Given the description of an element on the screen output the (x, y) to click on. 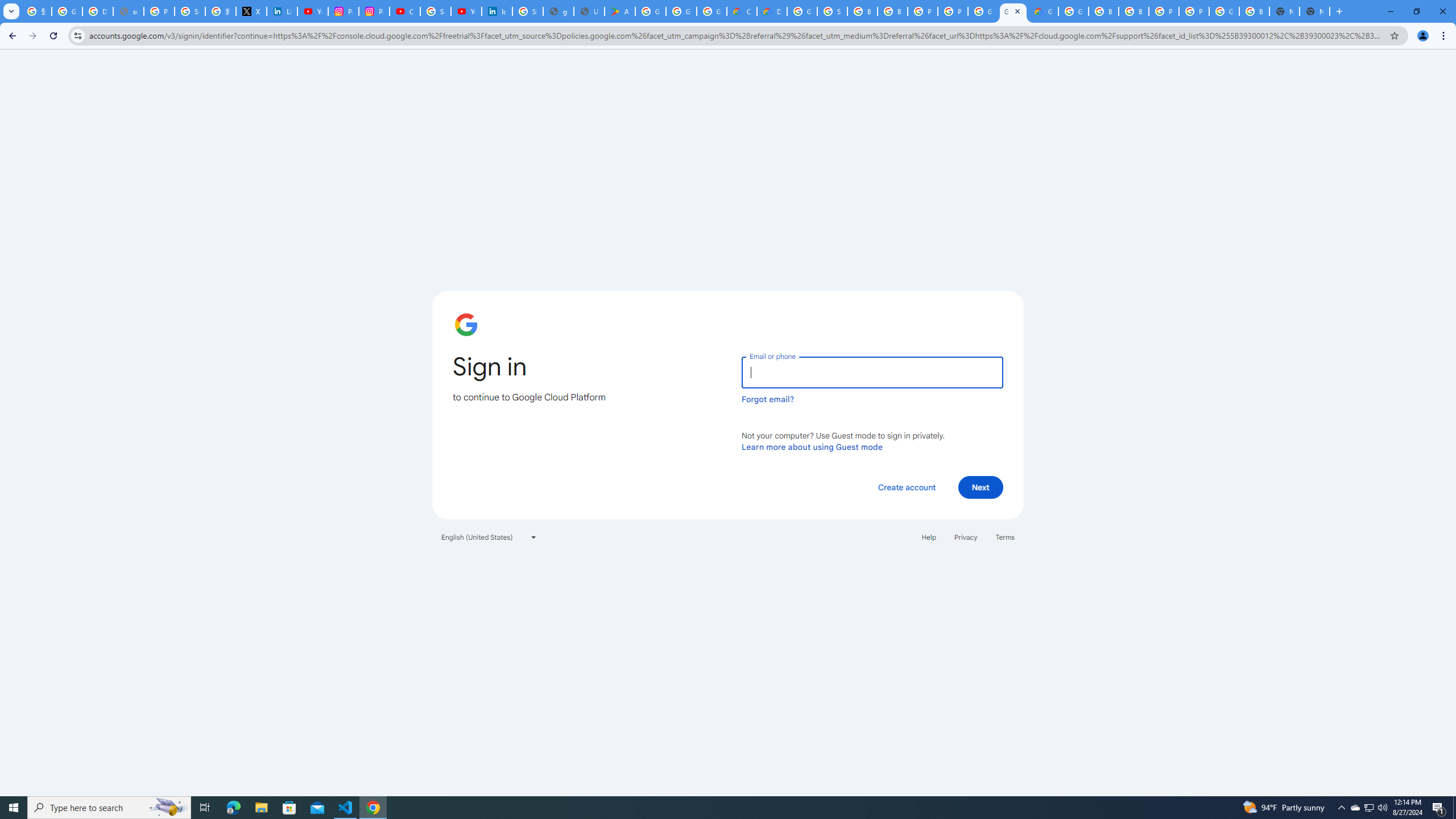
Android Apps on Google Play (619, 11)
Browse Chrome as a guest - Computer - Google Chrome Help (892, 11)
Browse Chrome as a guest - Computer - Google Chrome Help (1103, 11)
Google Cloud Platform (1224, 11)
Google Cloud Estimate Summary (1042, 11)
Customer Care | Google Cloud (741, 11)
